Given the description of an element on the screen output the (x, y) to click on. 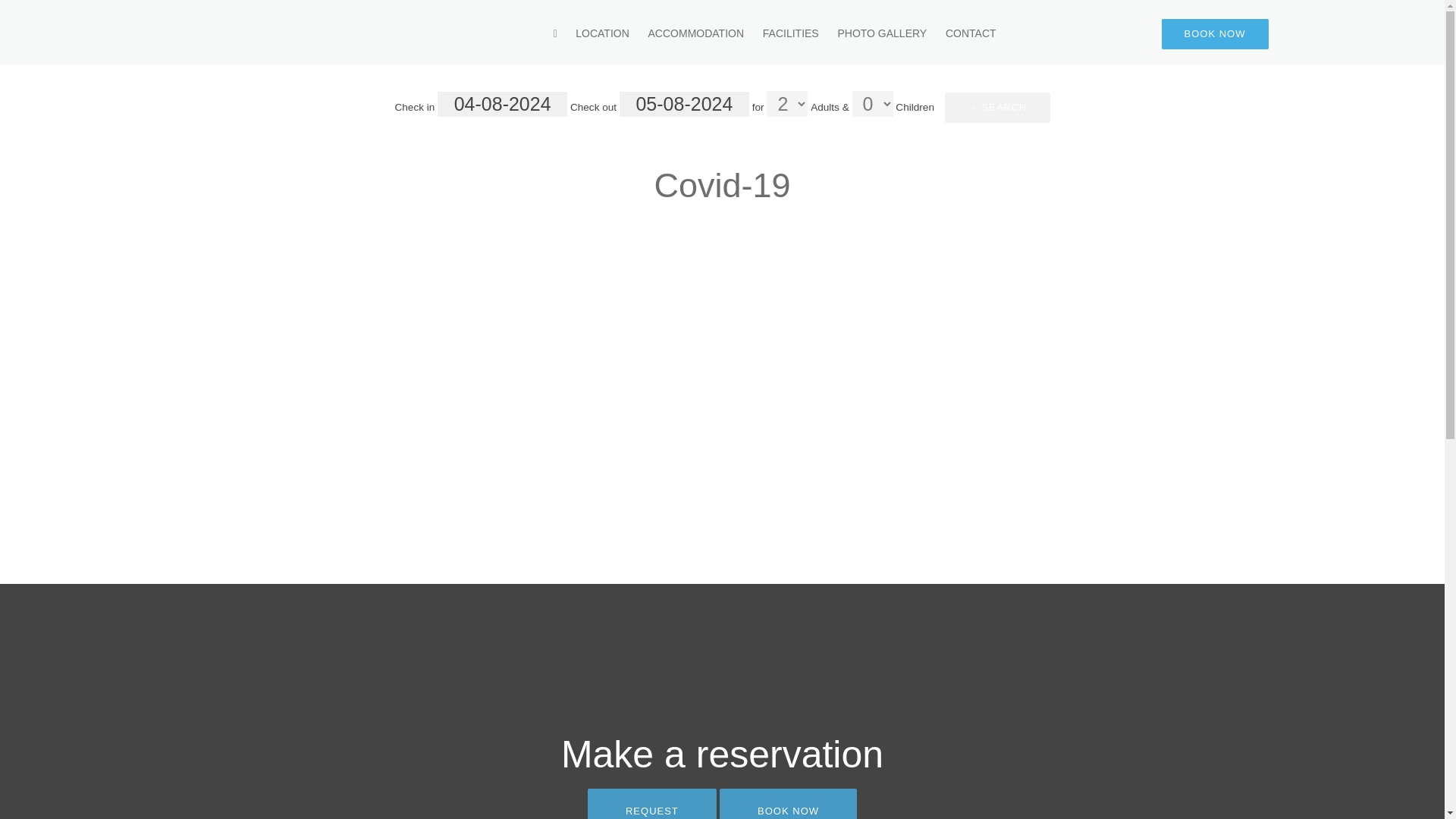
BOOK NOW (1214, 33)
English (1030, 33)
Italiano (1114, 33)
05-08-2024 (684, 104)
PHOTO GALLERY (881, 31)
Deutsch (1072, 33)
REQUEST (652, 803)
ACCOMMODATION (695, 31)
BOOK NOW (788, 803)
04-08-2024 (502, 104)
